Given the description of an element on the screen output the (x, y) to click on. 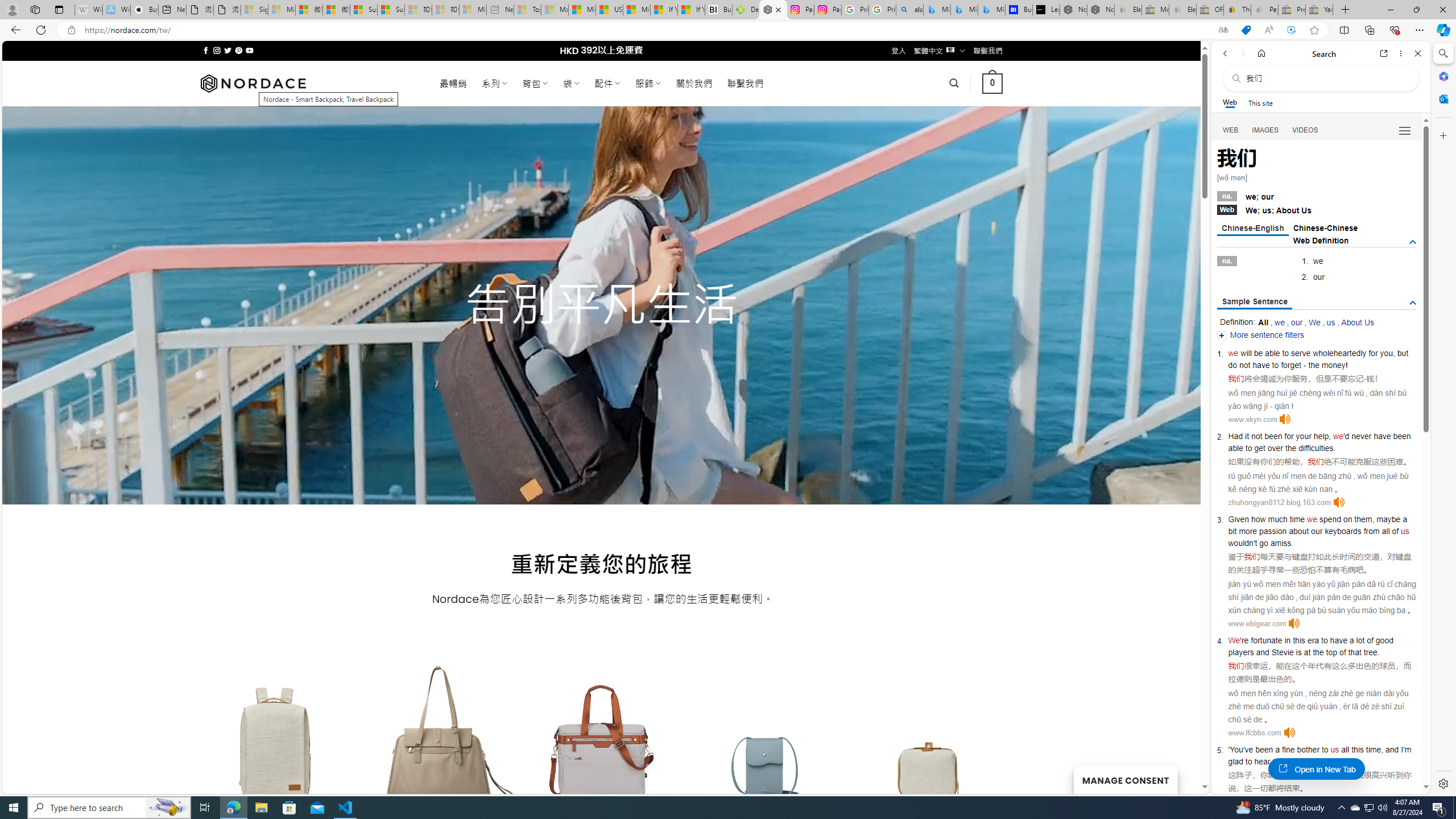
you (1386, 352)
www.lfcbbs.com (1254, 732)
This site has coupons! Shopping in Microsoft Edge (1245, 29)
We (1233, 640)
